Given the description of an element on the screen output the (x, y) to click on. 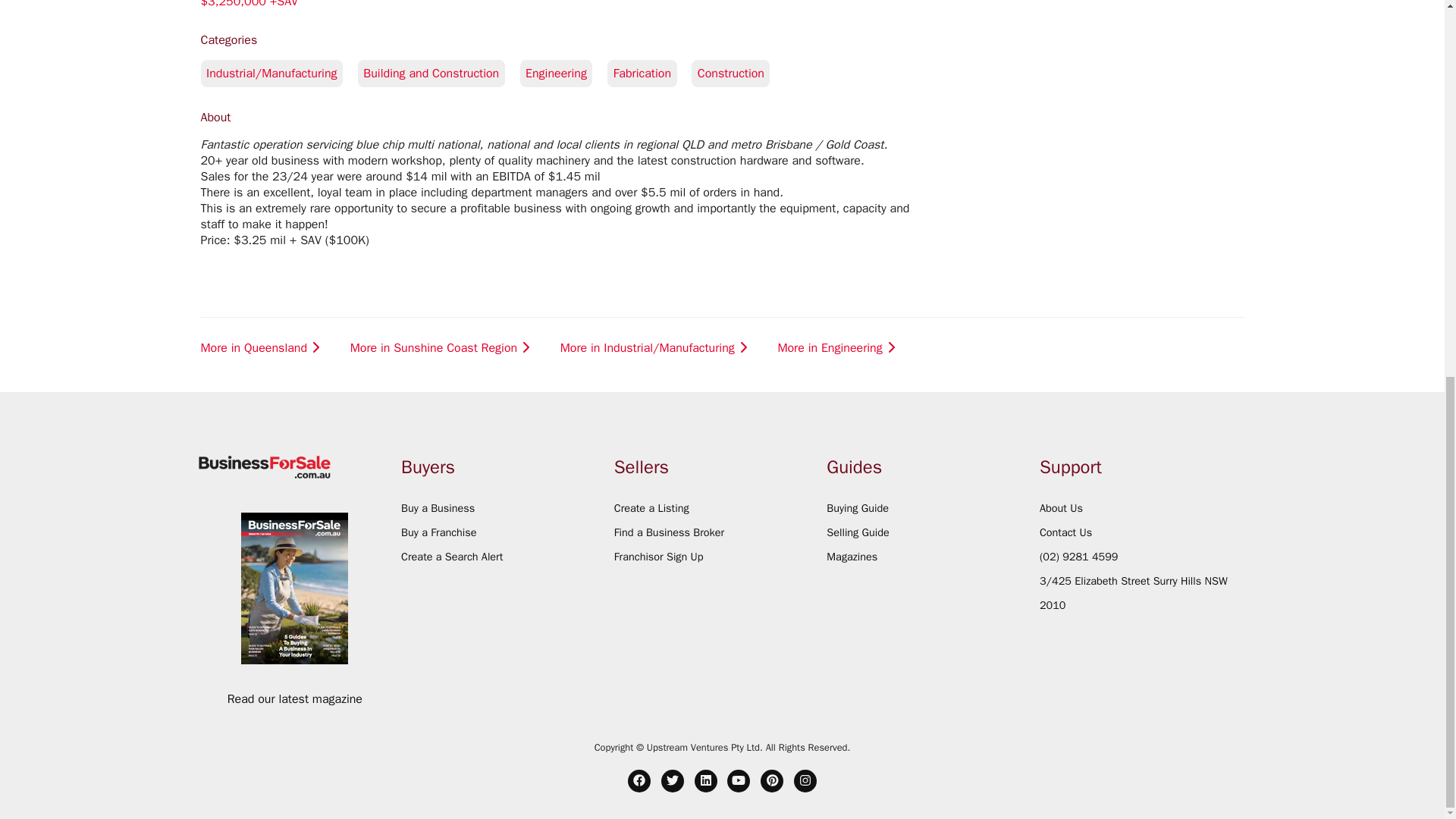
More in Queensland (261, 348)
Construction (735, 72)
Building and Construction (438, 72)
Engineering (563, 72)
Fabrication (649, 72)
